Given the description of an element on the screen output the (x, y) to click on. 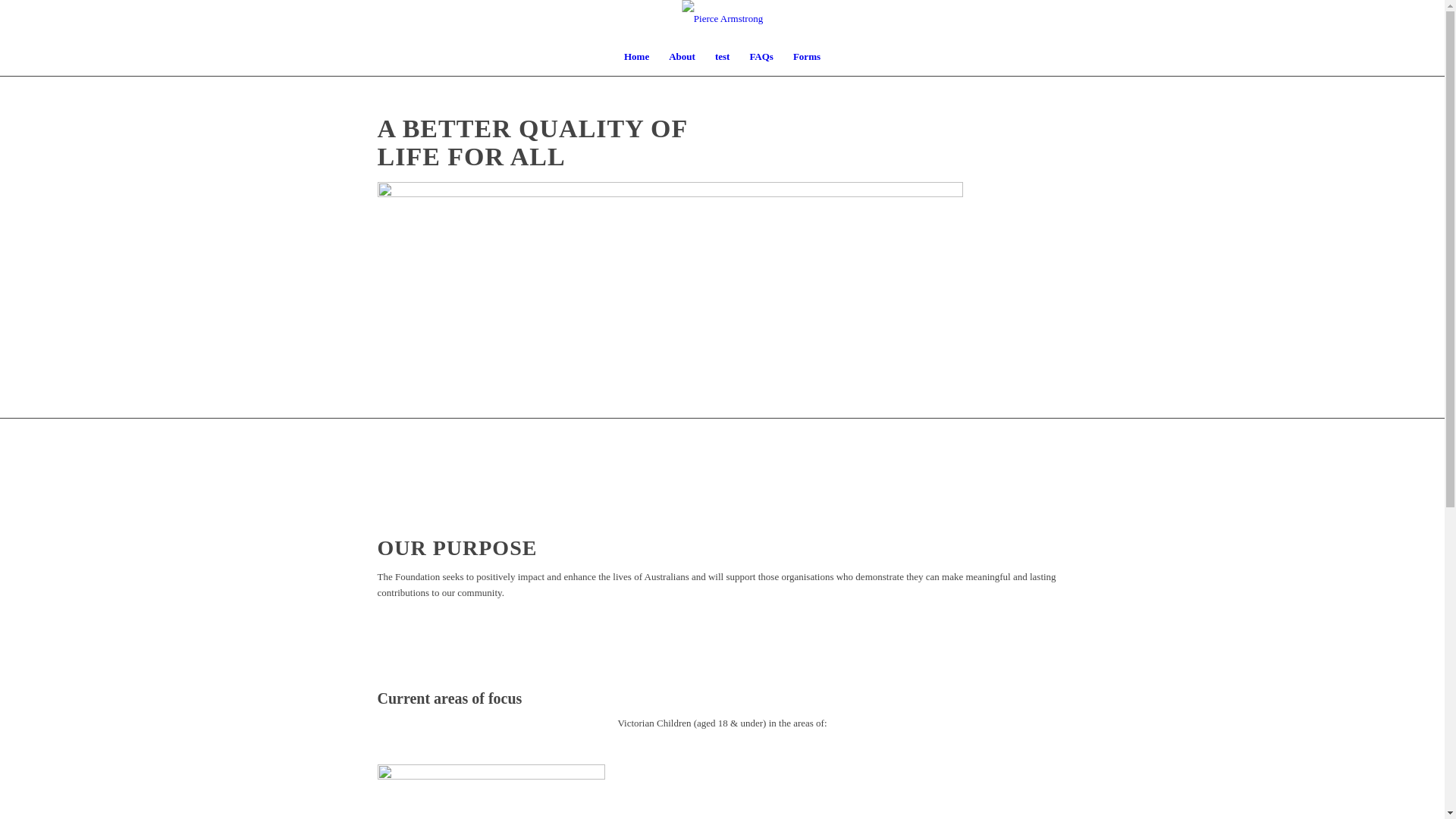
About Element type: text (681, 56)
test Element type: text (722, 56)
line-3-big Element type: hover (378, 649)
Forms Element type: text (806, 56)
FAQs Element type: text (761, 56)
Home Element type: text (636, 56)
line-2 Element type: hover (670, 270)
line-3-big Element type: hover (378, 496)
